Given the description of an element on the screen output the (x, y) to click on. 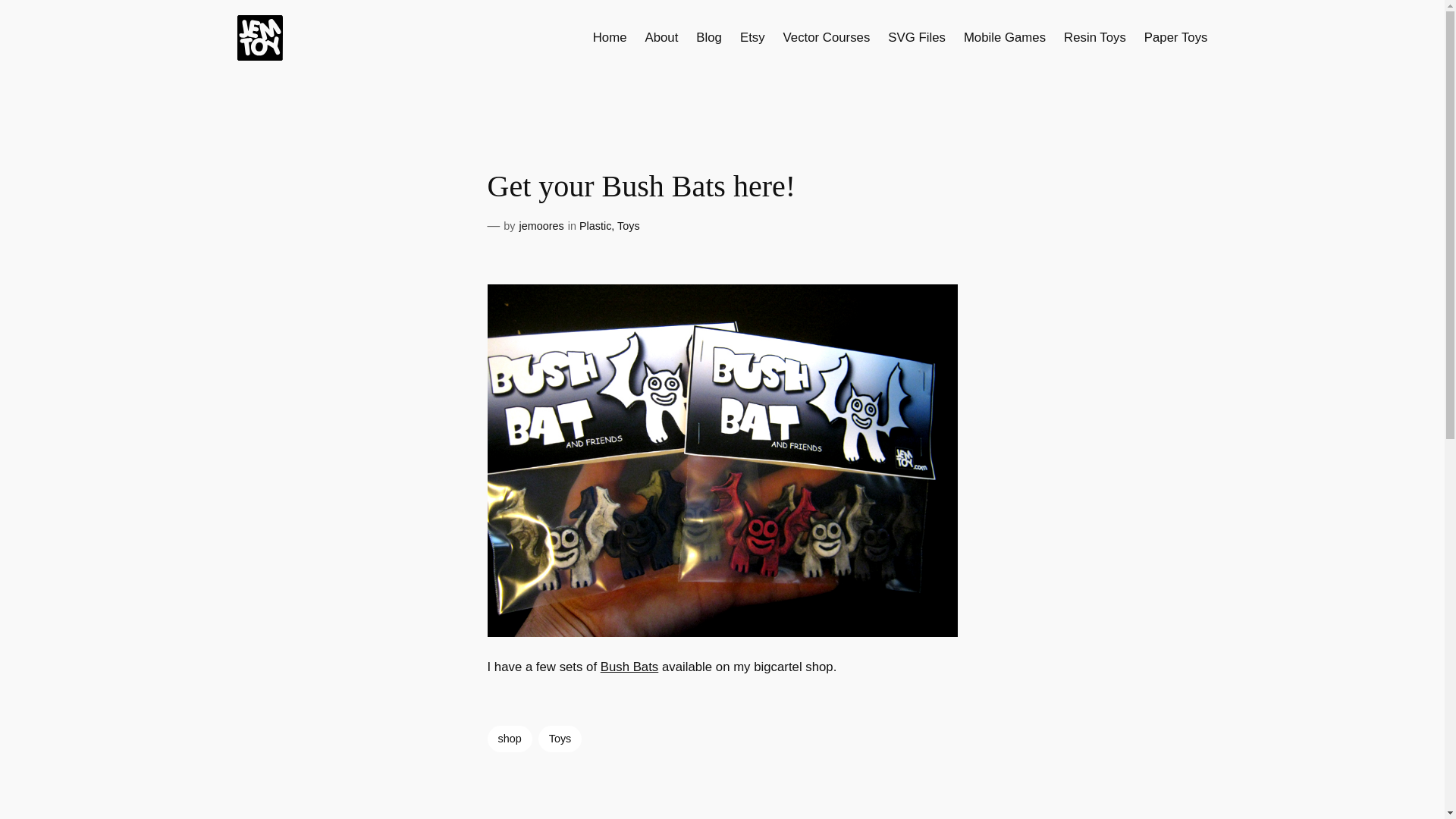
Toys (628, 225)
Etsy (752, 37)
Plastic (595, 225)
jemoores (541, 225)
Home (609, 37)
shop (508, 738)
Blog (708, 37)
Bush Bats (629, 667)
About (661, 37)
